Given the description of an element on the screen output the (x, y) to click on. 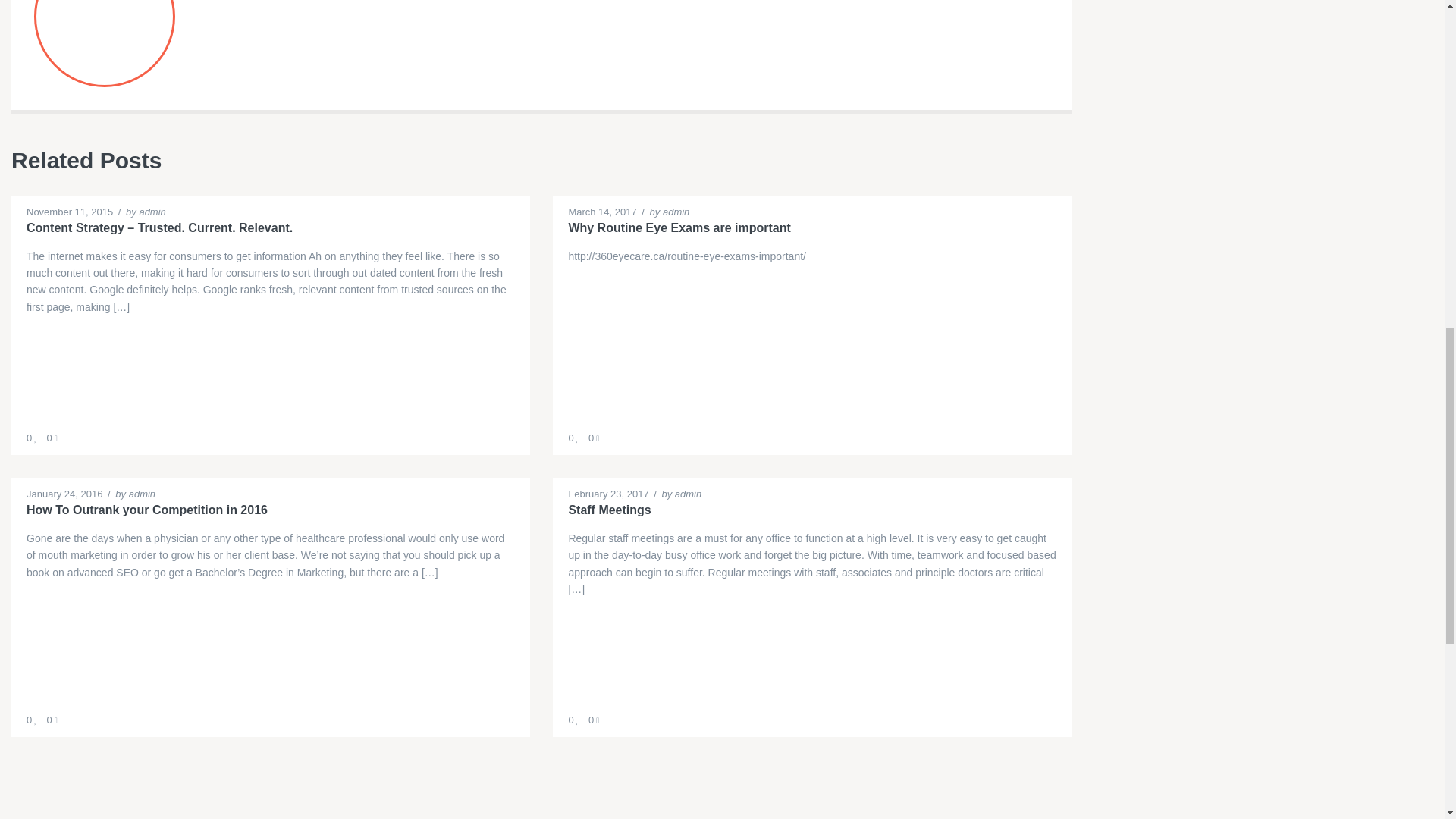
Staff Meetings (812, 510)
How To Outrank your Competition in 2016 (270, 510)
Why Routine Eye Exams are important (812, 228)
